Given the description of an element on the screen output the (x, y) to click on. 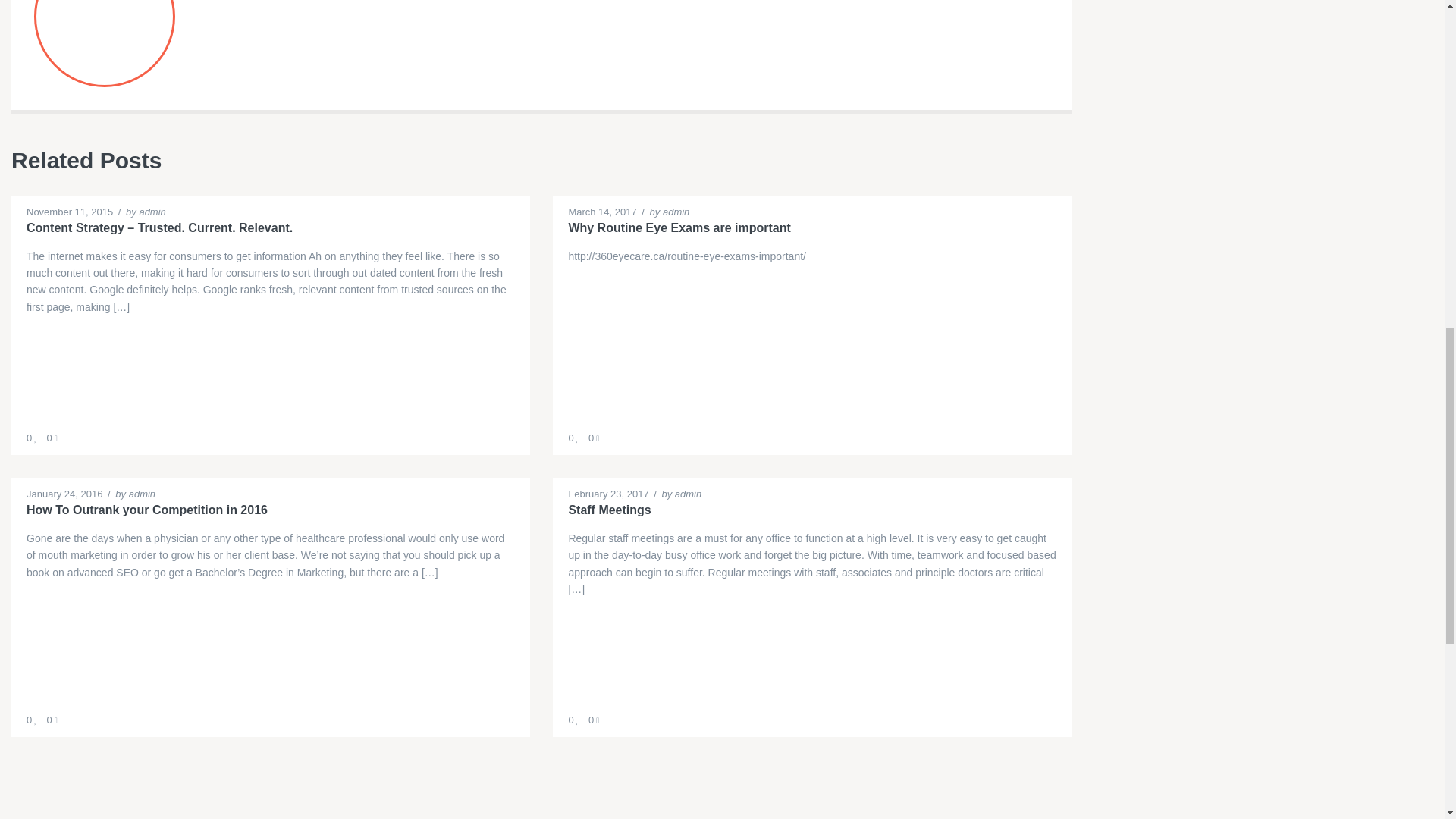
Staff Meetings (812, 510)
How To Outrank your Competition in 2016 (270, 510)
Why Routine Eye Exams are important (812, 228)
